Given the description of an element on the screen output the (x, y) to click on. 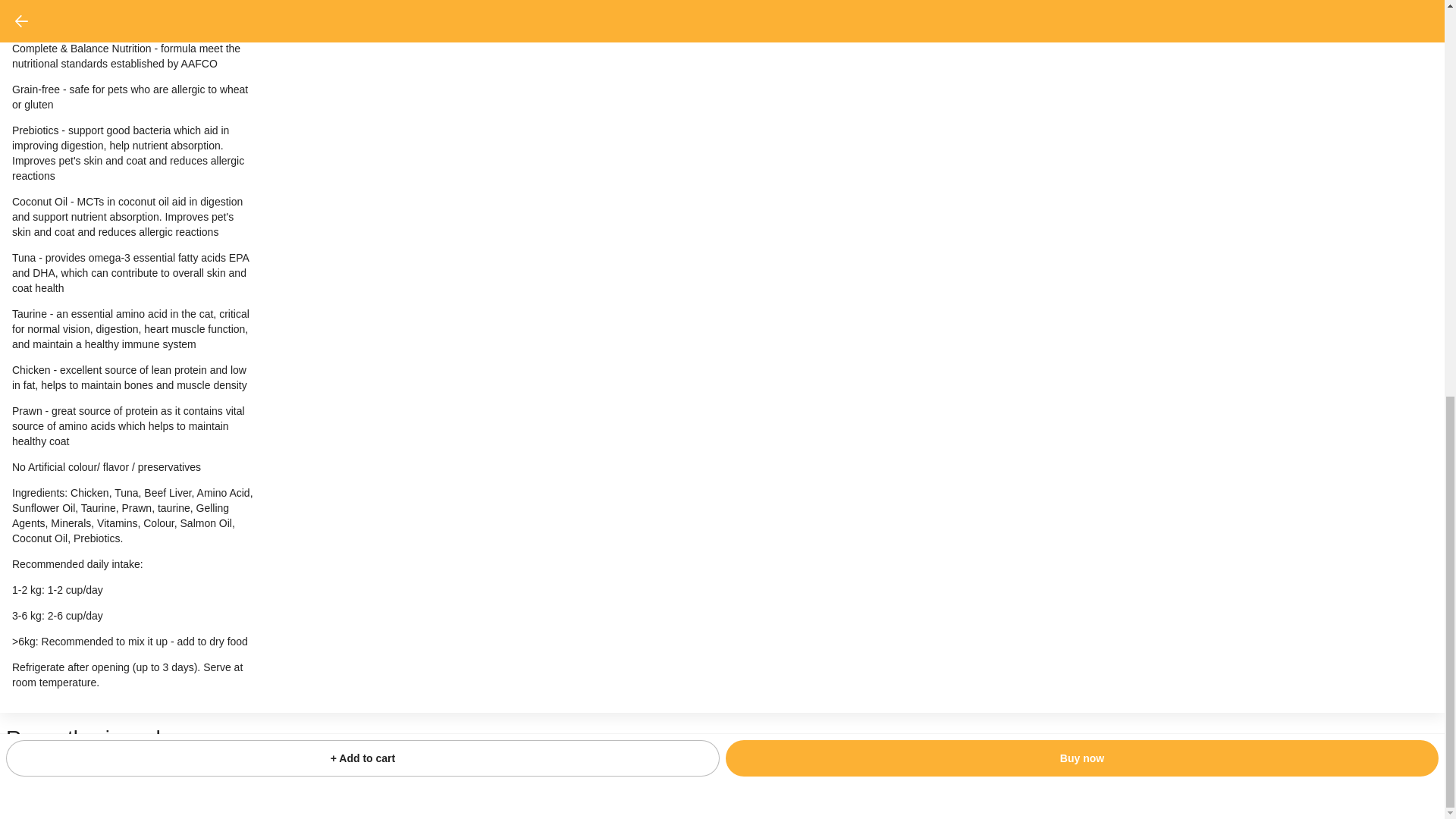
Buy now (1081, 4)
